Given the description of an element on the screen output the (x, y) to click on. 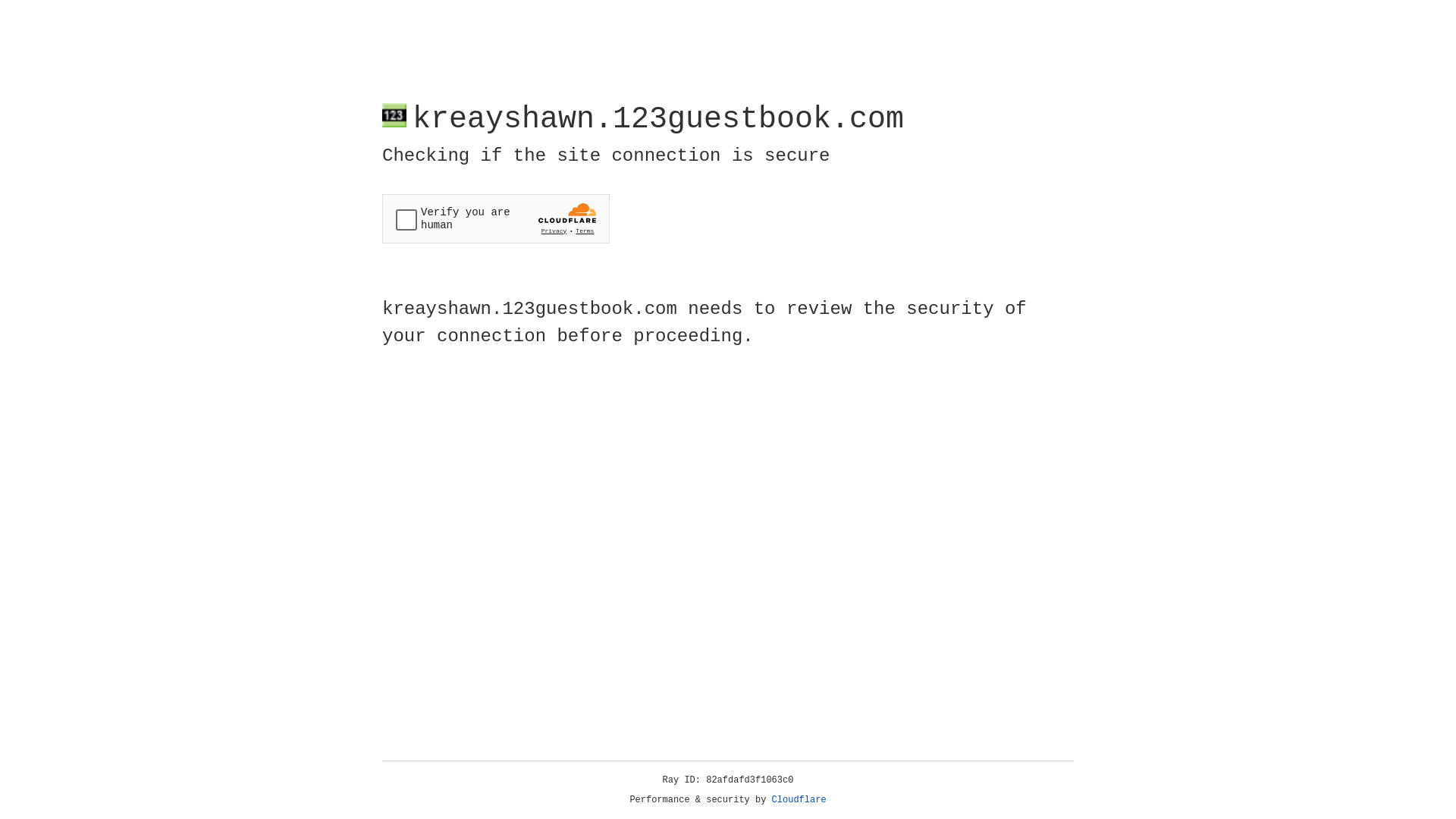
Cloudflare Element type: text (798, 799)
Widget containing a Cloudflare security challenge Element type: hover (495, 218)
